Given the description of an element on the screen output the (x, y) to click on. 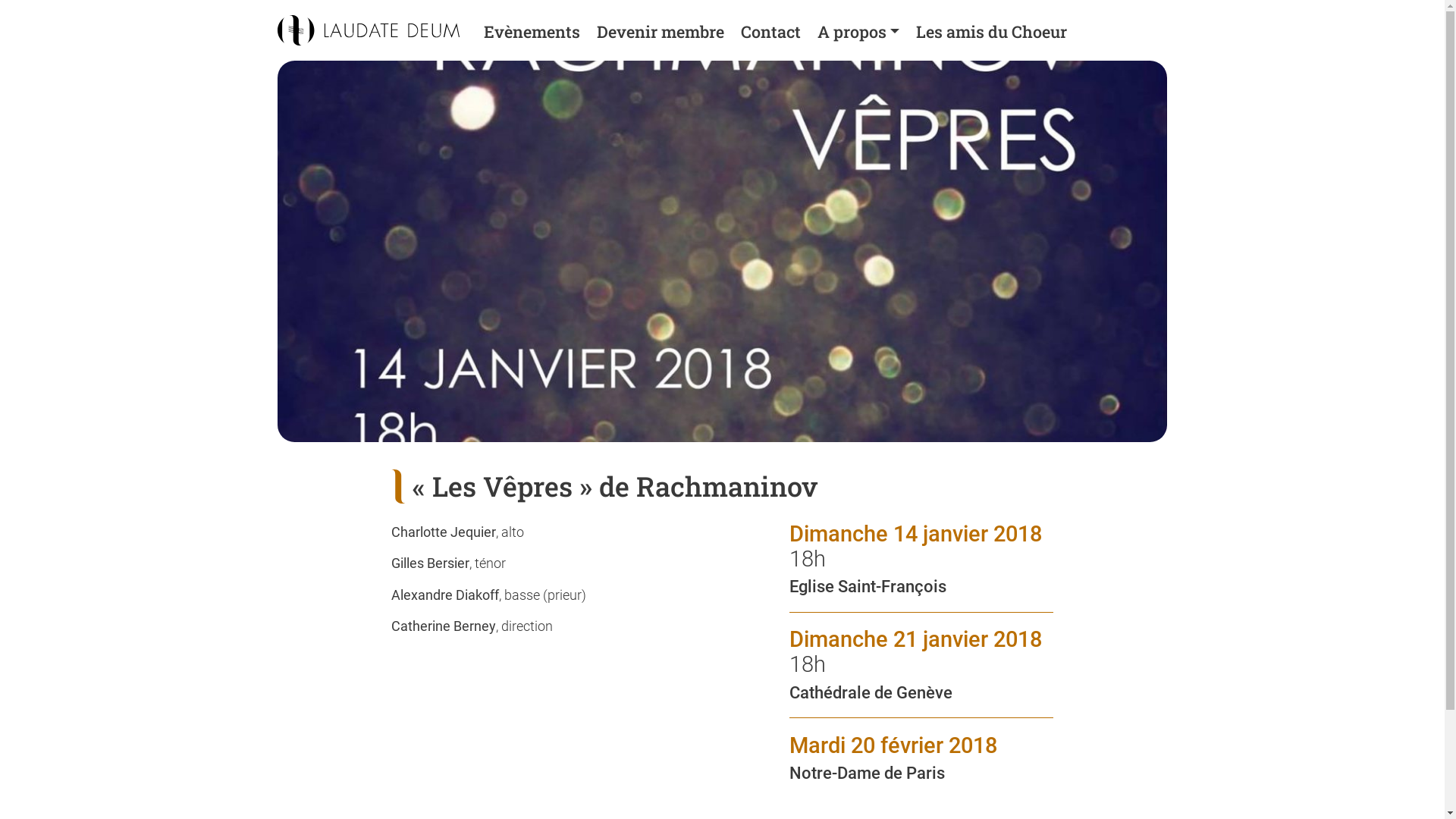
Devenir membre Element type: text (659, 31)
Contact Element type: text (769, 31)
A propos Element type: text (857, 31)
Les amis du Choeur Element type: text (990, 31)
